Given the description of an element on the screen output the (x, y) to click on. 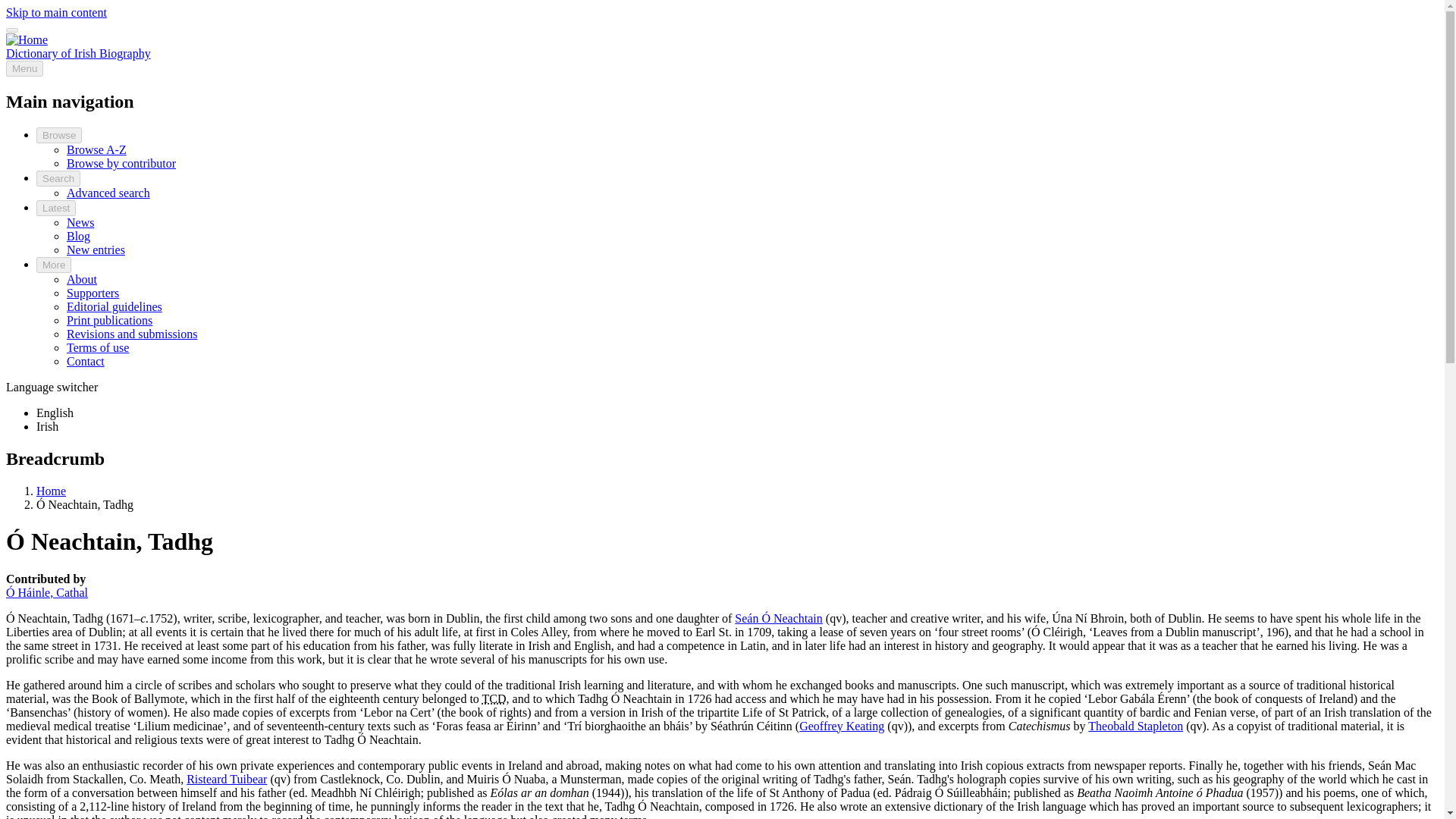
Browse by contributor (121, 163)
Search biographies (107, 192)
Editorial guidelines (113, 306)
Blog feed (78, 236)
Search (58, 178)
Home (78, 52)
Contact (85, 360)
Licensing information about the corpus (97, 347)
Contact the Dictionary of Irish Biography (85, 360)
Skip to main content (55, 11)
